Given the description of an element on the screen output the (x, y) to click on. 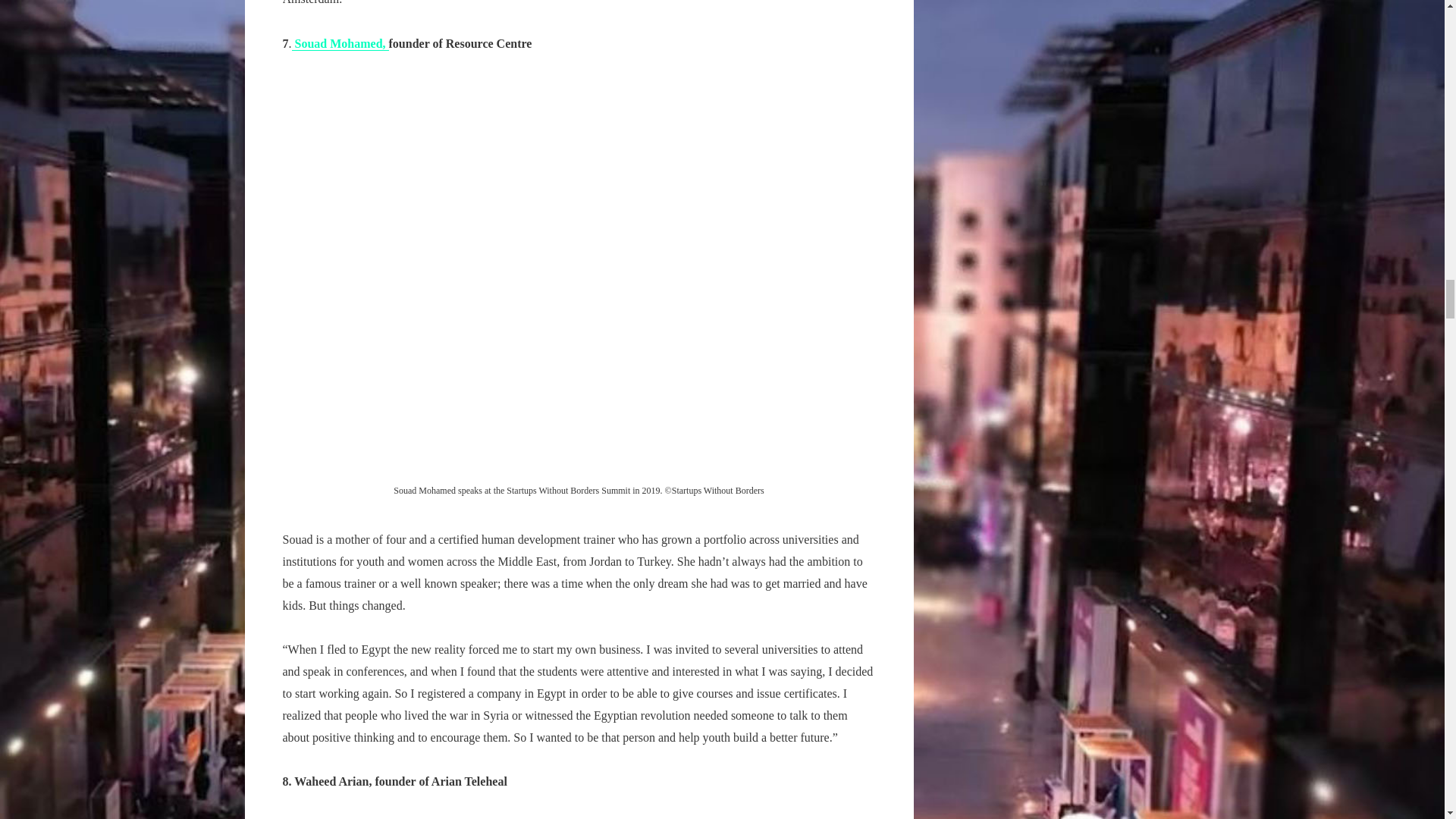
Souad Mohamed (336, 43)
